Given the description of an element on the screen output the (x, y) to click on. 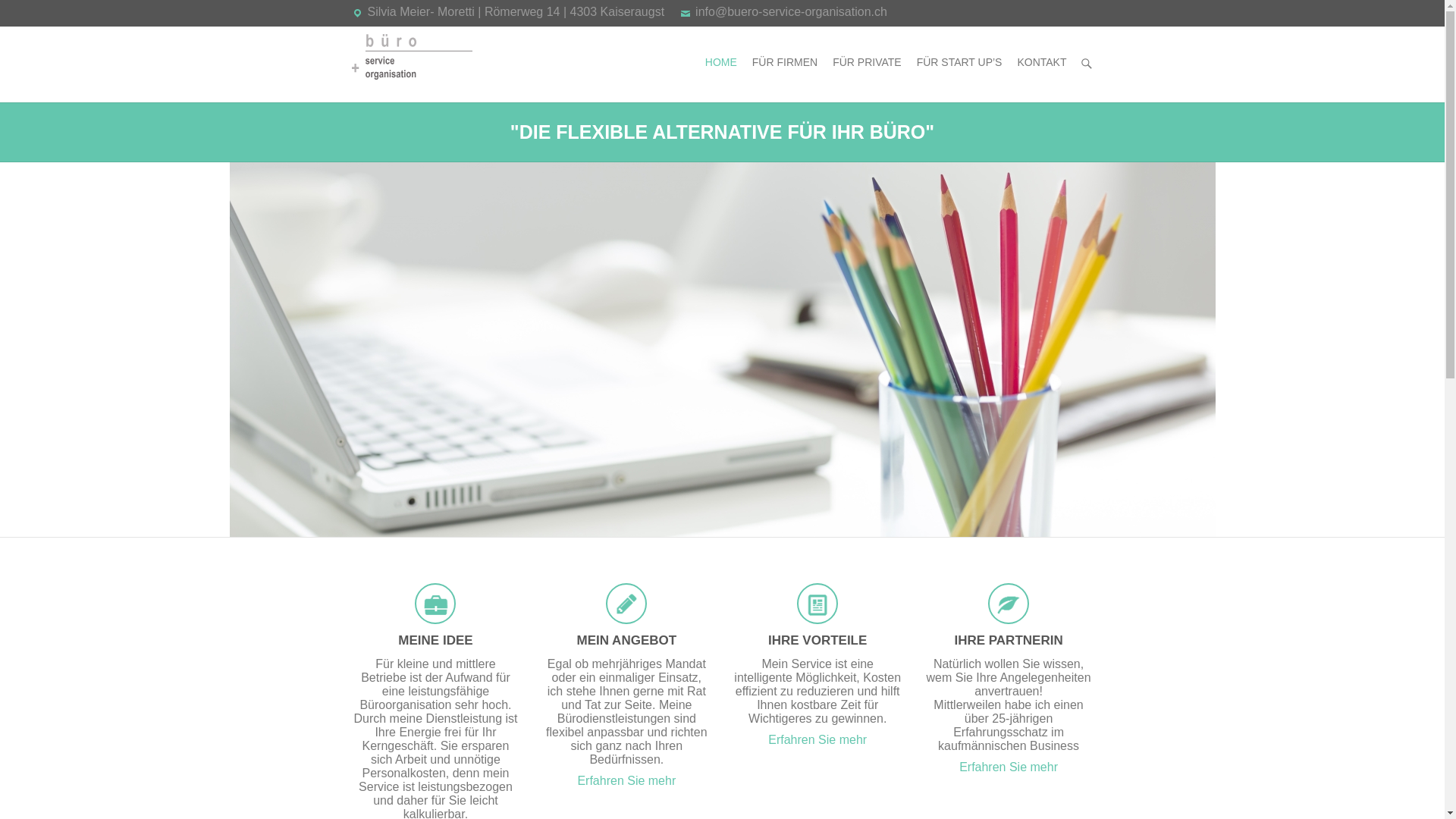
HOME Element type: text (721, 64)
Erfahren Sie mehr Element type: text (1008, 767)
info@buero-service-organisation.ch Element type: text (791, 11)
Erfahren Sie mehr Element type: text (626, 780)
Erfahren Sie mehr Element type: text (817, 739)
KONTAKT Element type: text (1041, 64)
